Given the description of an element on the screen output the (x, y) to click on. 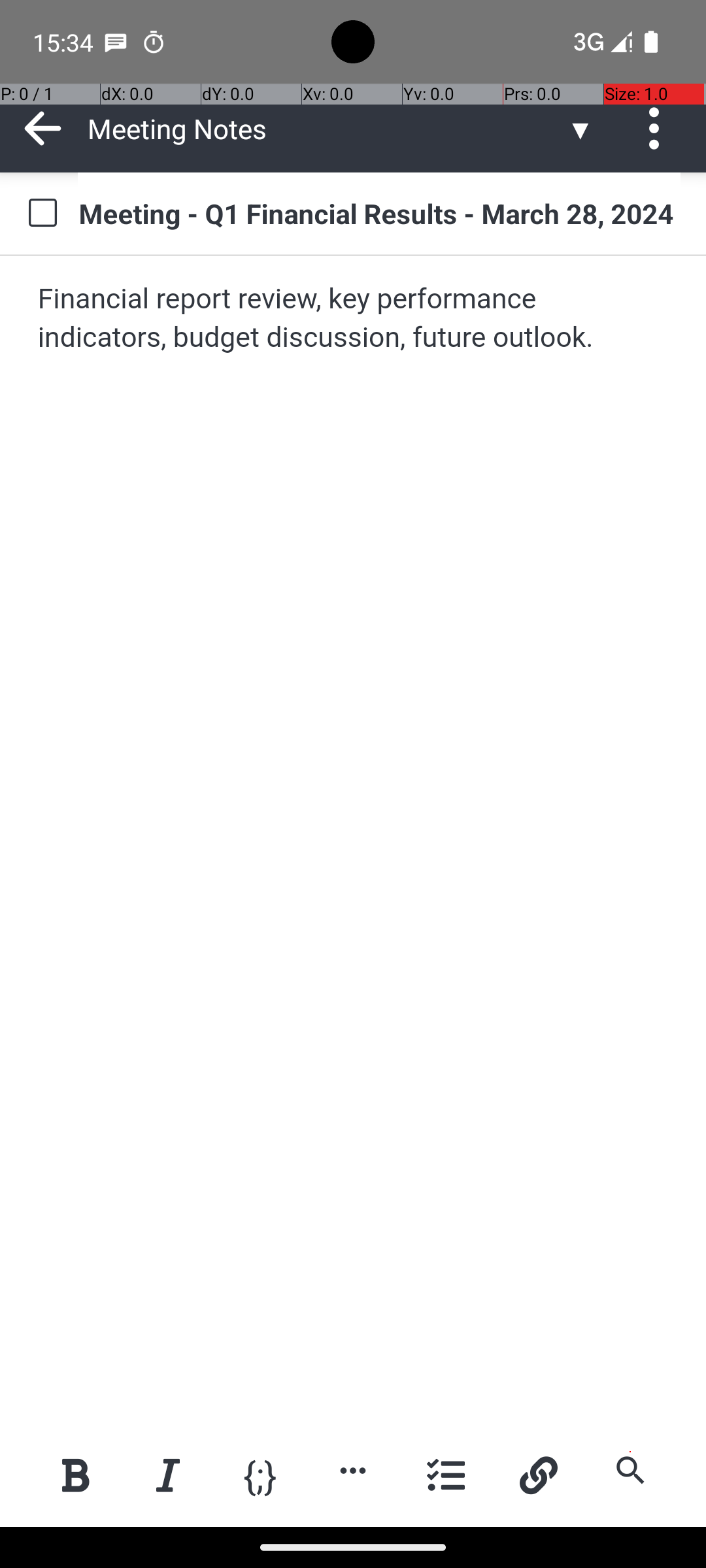
Financial report review, key performance indicators, budget discussion, future outlook. Element type: android.widget.EditText (354, 318)
